Given the description of an element on the screen output the (x, y) to click on. 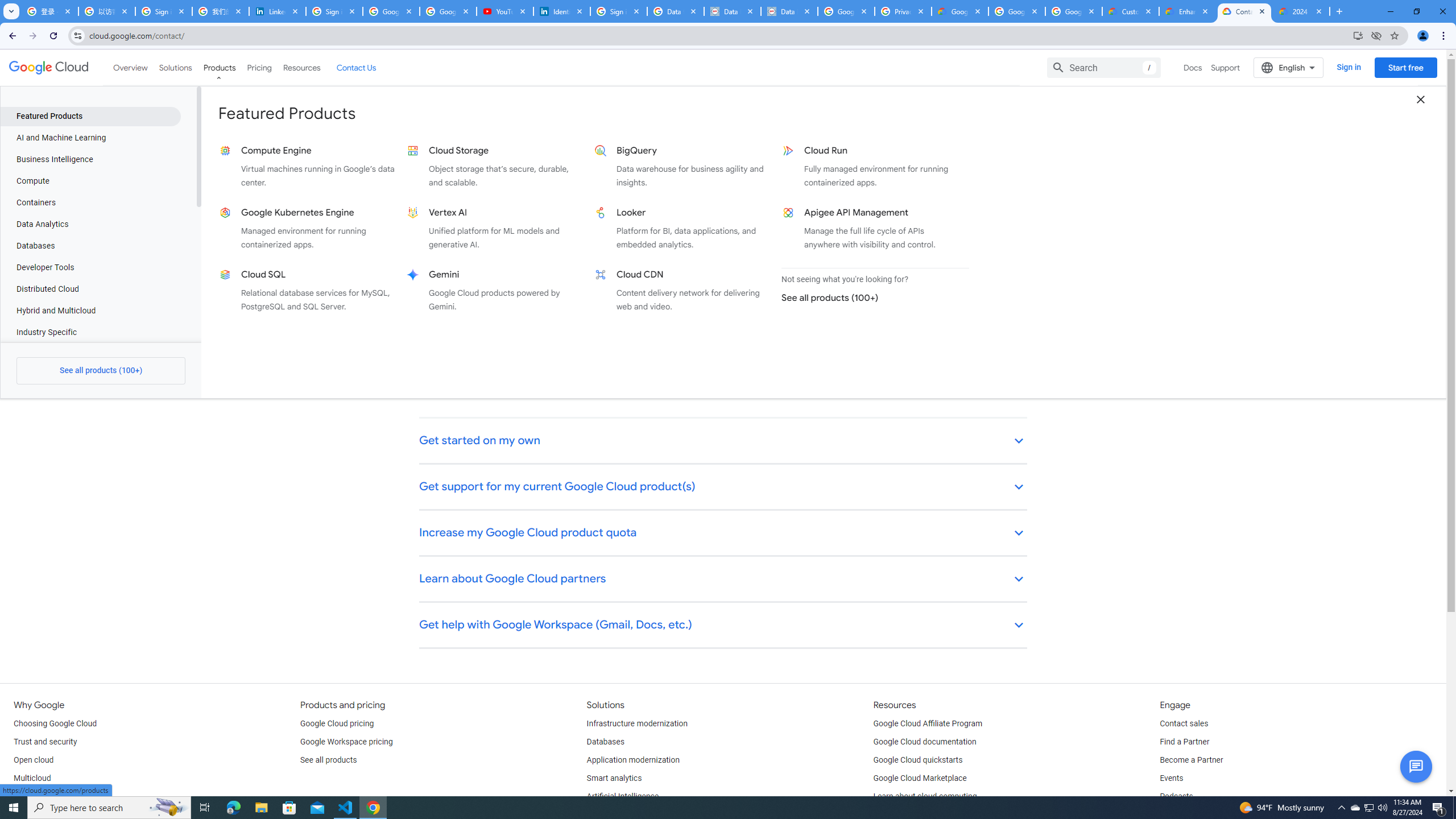
AI and Machine Learning (90, 138)
BigQuery Data warehouse for business agility and insights. (682, 166)
Google Cloud Marketplace (919, 778)
Google Workspace pricing (346, 742)
Industry Specific (90, 332)
Google Cloud pricing (336, 723)
Open cloud (33, 760)
Hybrid and Multicloud (90, 311)
Global infrastructure (49, 796)
Enhanced Support | Google Cloud (1187, 11)
